Given the description of an element on the screen output the (x, y) to click on. 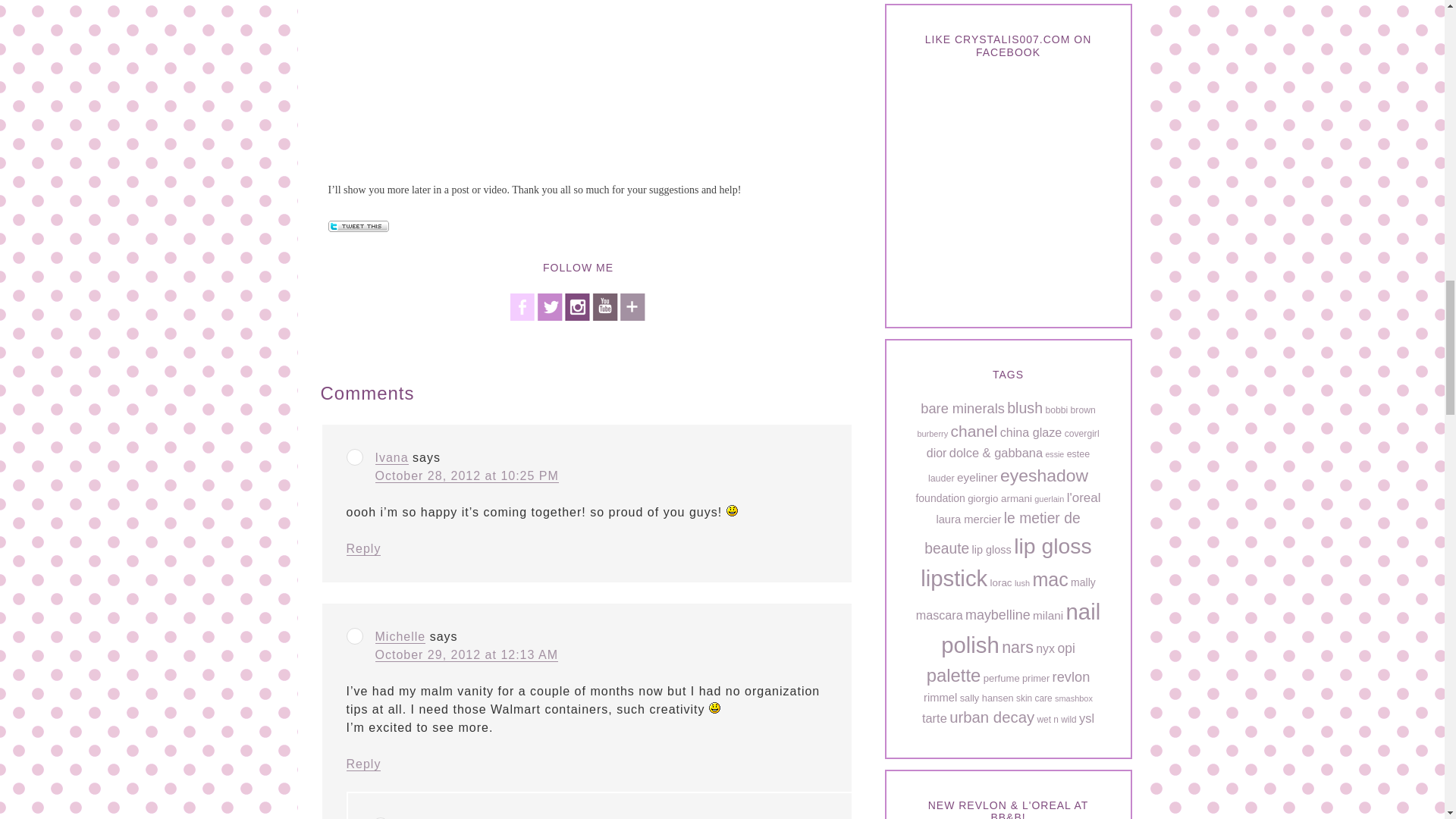
Reply (363, 764)
Reply (363, 549)
Post to Twitter (357, 225)
Ivana (390, 458)
October 28, 2012 at 10:25 PM (465, 476)
photo-2 (578, 81)
Michelle (399, 636)
October 29, 2012 at 12:13 AM (465, 654)
